Given the description of an element on the screen output the (x, y) to click on. 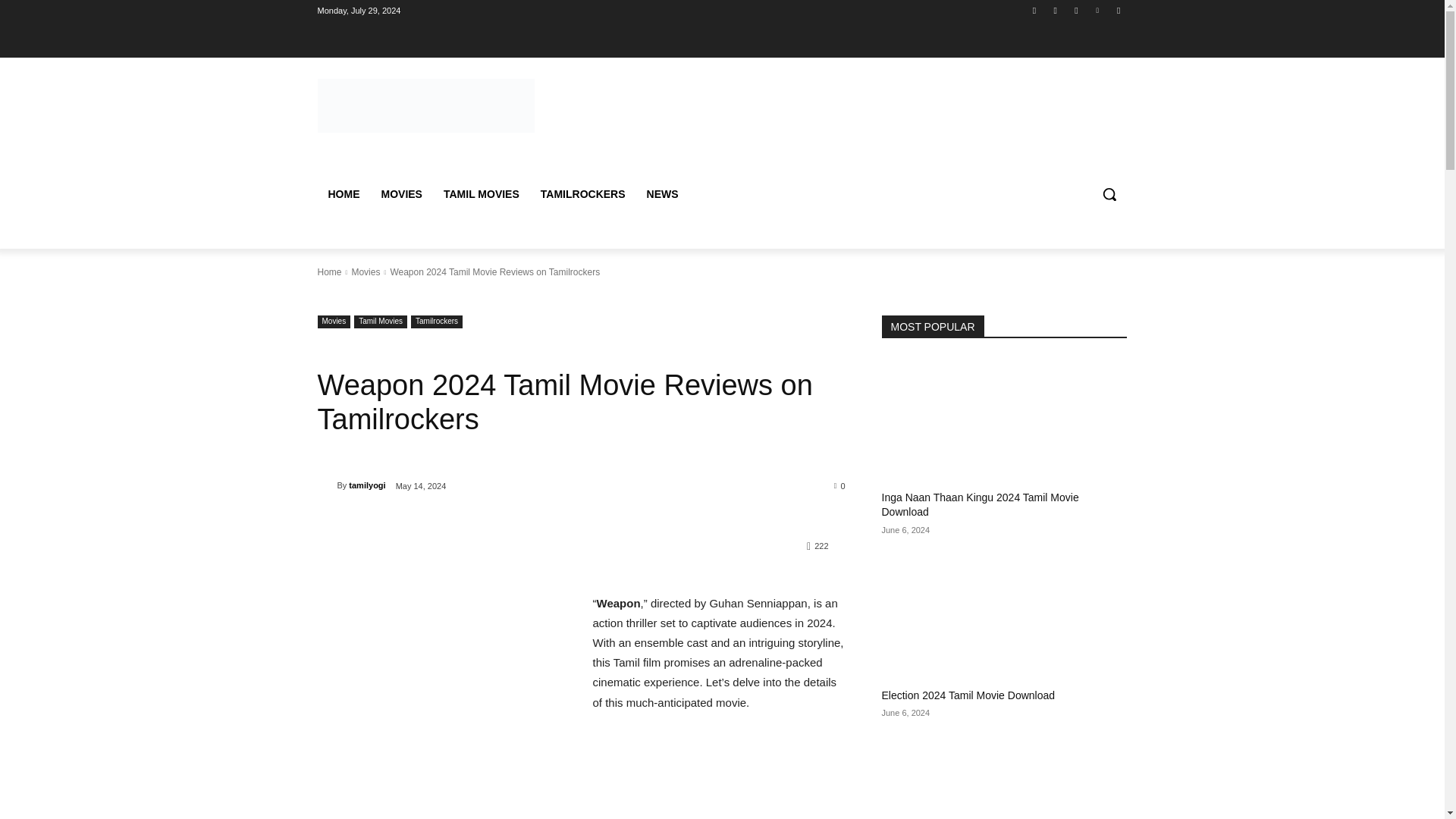
HOME (343, 194)
0 (839, 484)
Facebook (1034, 9)
Movies (333, 321)
Instagram (1055, 9)
Tamil Movies (380, 321)
tamilyogi (326, 485)
TAMILROCKERS (582, 194)
Youtube (1117, 9)
Tamilrockers (436, 321)
Movies (365, 271)
TAMIL MOVIES (480, 194)
View all posts in Movies (365, 271)
MOVIES (400, 194)
Vimeo (1097, 9)
